Given the description of an element on the screen output the (x, y) to click on. 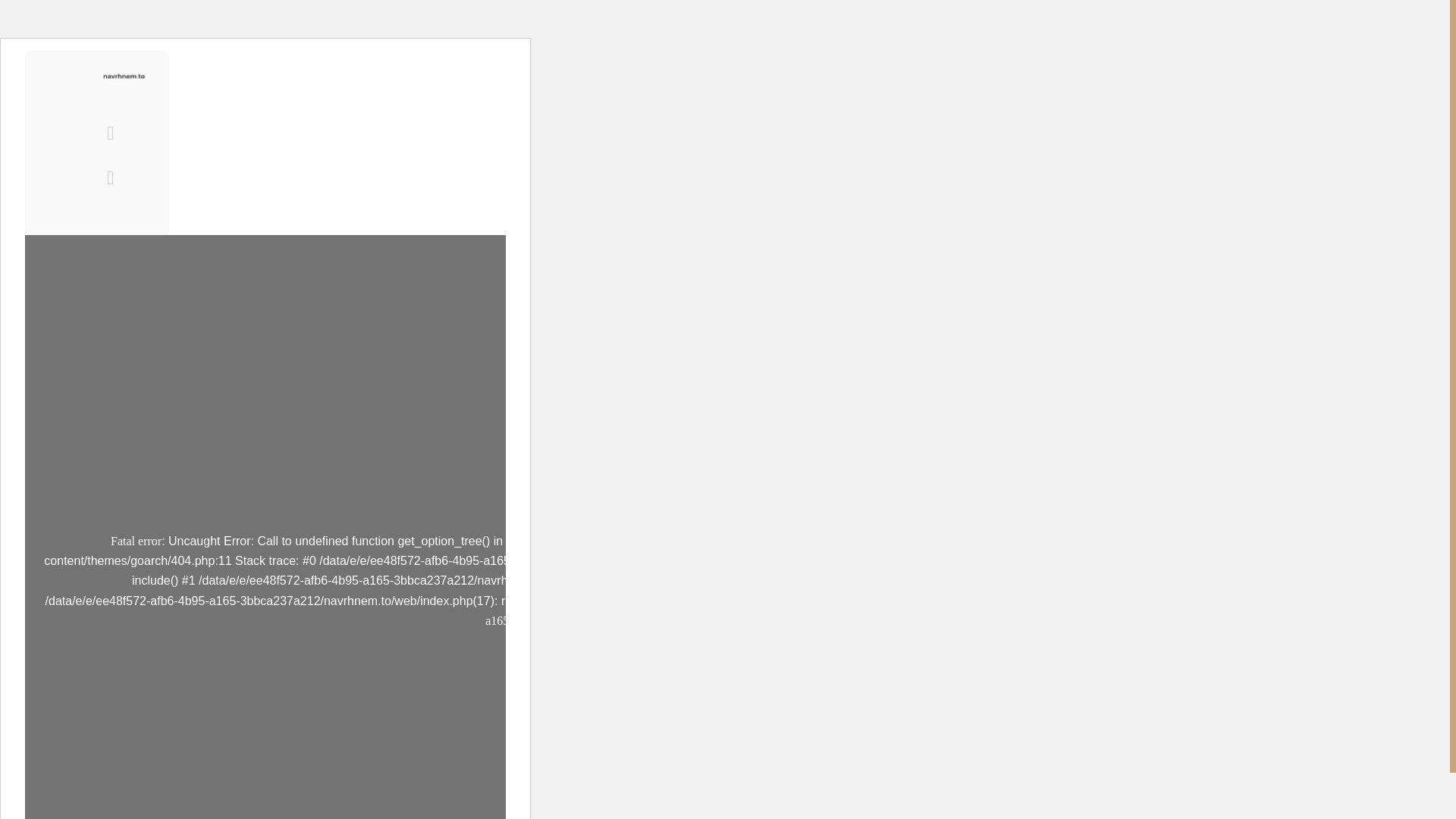
NESIA (341, 125)
O NAS (456, 90)
KONTAKT (423, 125)
PROJEKTY (255, 125)
DOMOV (380, 90)
